Given the description of an element on the screen output the (x, y) to click on. 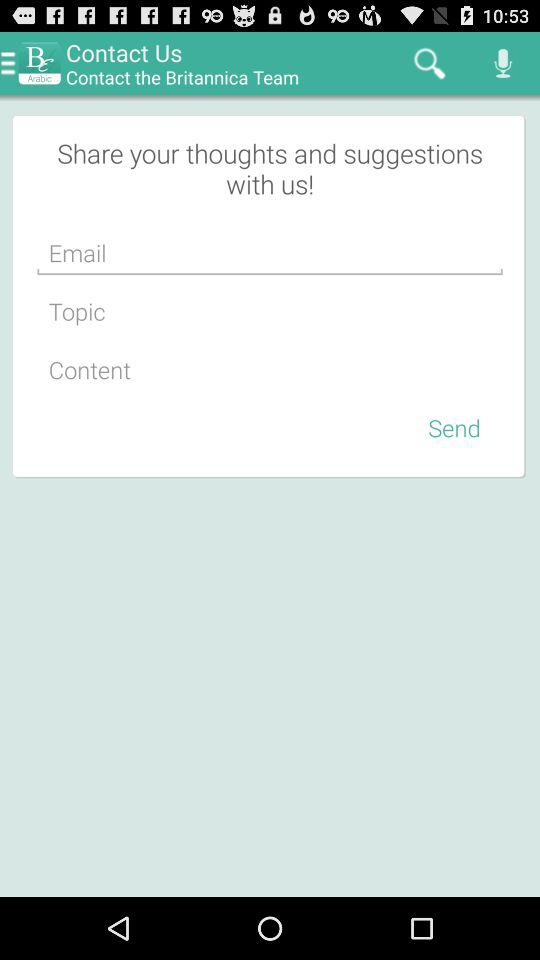
launch the send item (454, 427)
